Given the description of an element on the screen output the (x, y) to click on. 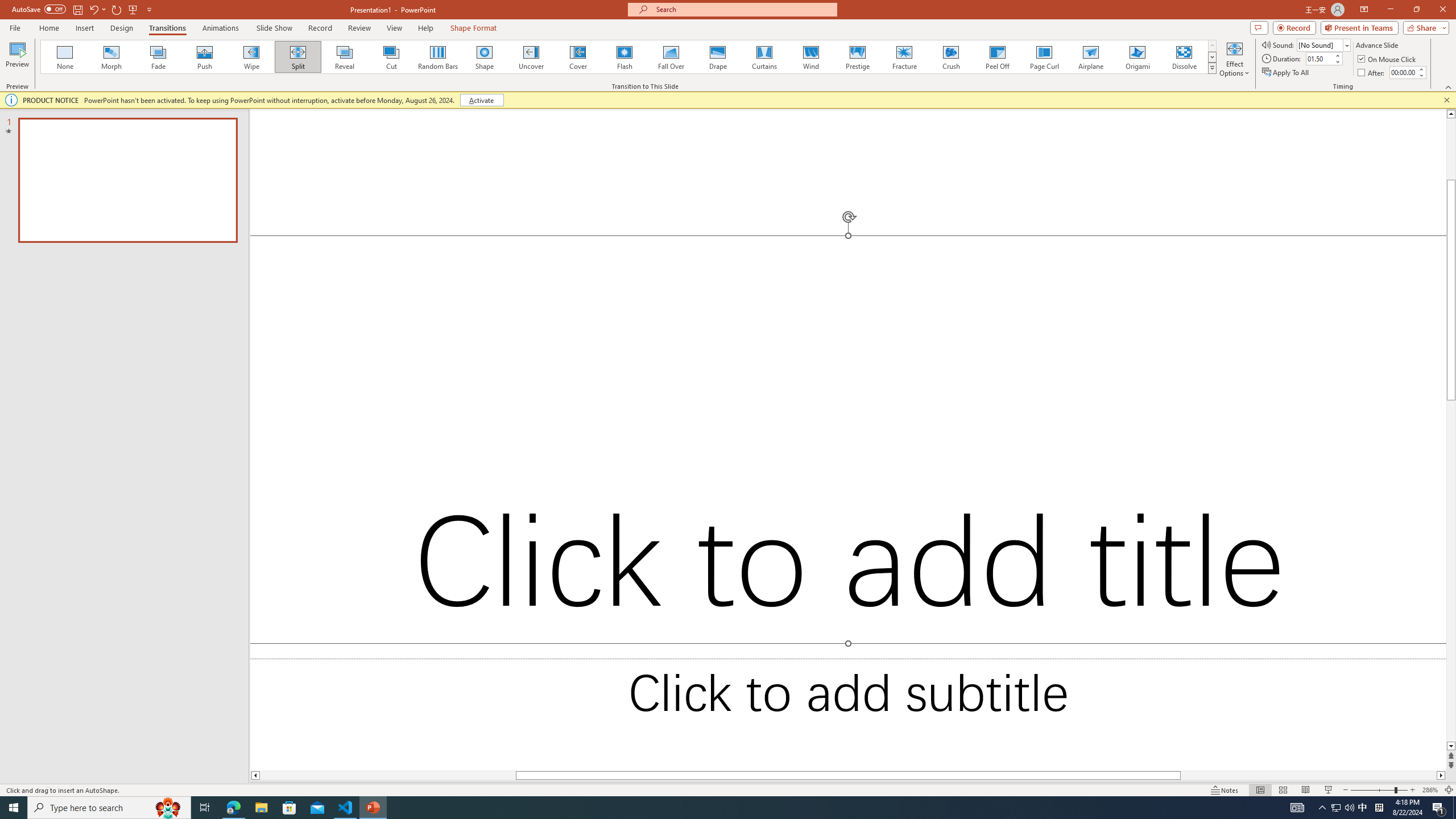
Effect Options (1234, 58)
AutomationID: AnimationTransitionGallery (628, 56)
Fall Over (670, 56)
Crush (950, 56)
None (65, 56)
Reveal (344, 56)
Cover (577, 56)
